Given the description of an element on the screen output the (x, y) to click on. 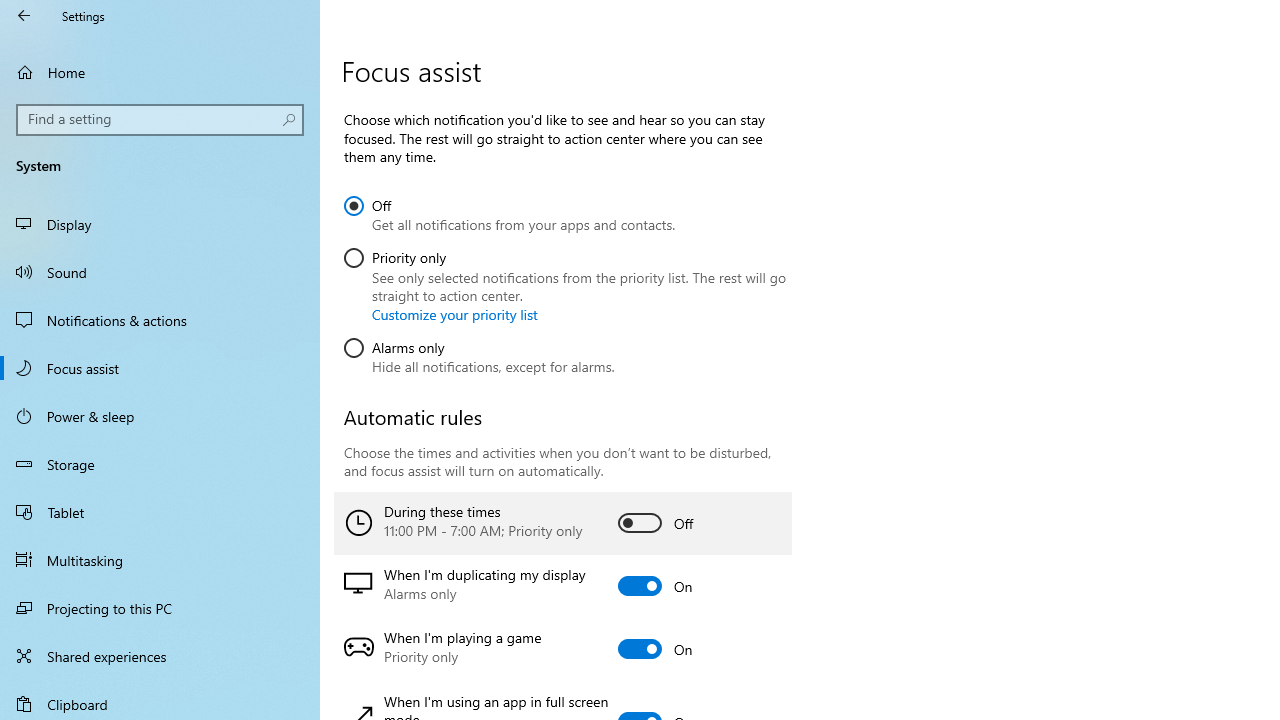
Search box, Find a setting (160, 119)
Multitasking (160, 559)
Sound (160, 271)
Tablet (160, 511)
Power & sleep (160, 415)
Focus assist (160, 367)
Customize your priority list (454, 314)
Alarms only (479, 353)
When I'm playing a game (563, 649)
Off (509, 212)
Home (160, 71)
Back (24, 15)
Storage (160, 463)
Display (160, 223)
Priority only (565, 282)
